Given the description of an element on the screen output the (x, y) to click on. 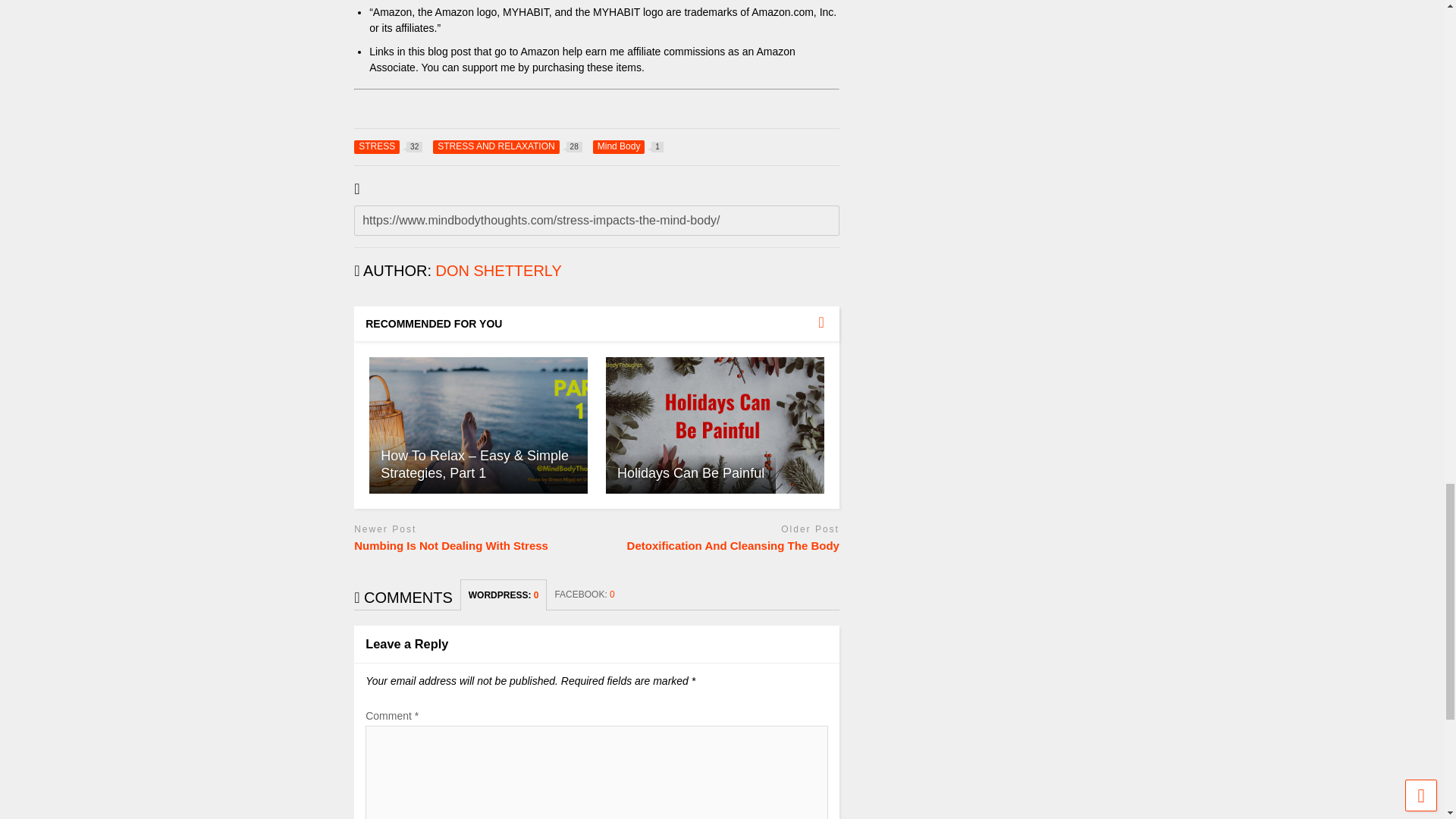
author profile (498, 270)
